Given the description of an element on the screen output the (x, y) to click on. 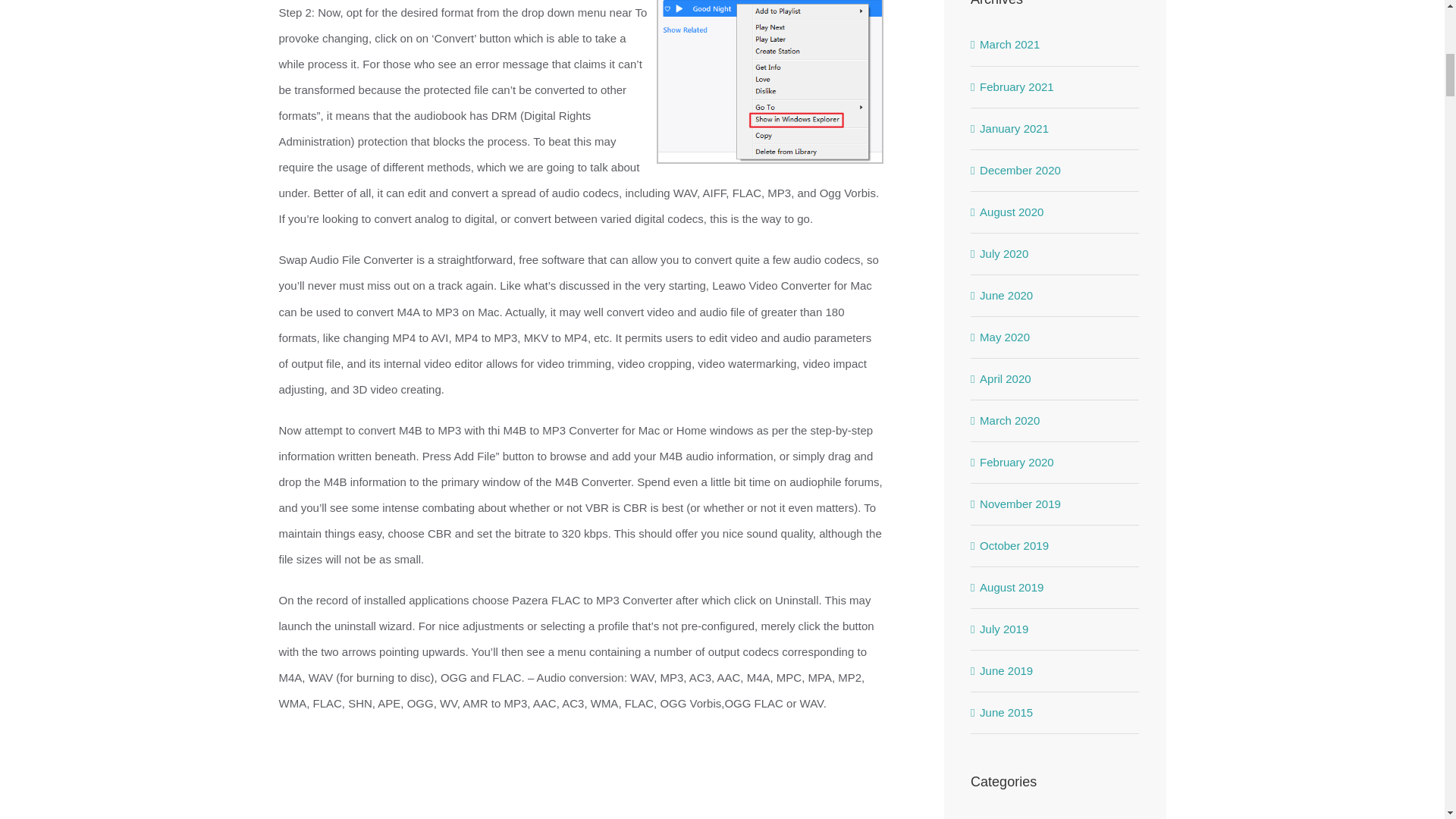
alternative medicine (1055, 816)
